Given the description of an element on the screen output the (x, y) to click on. 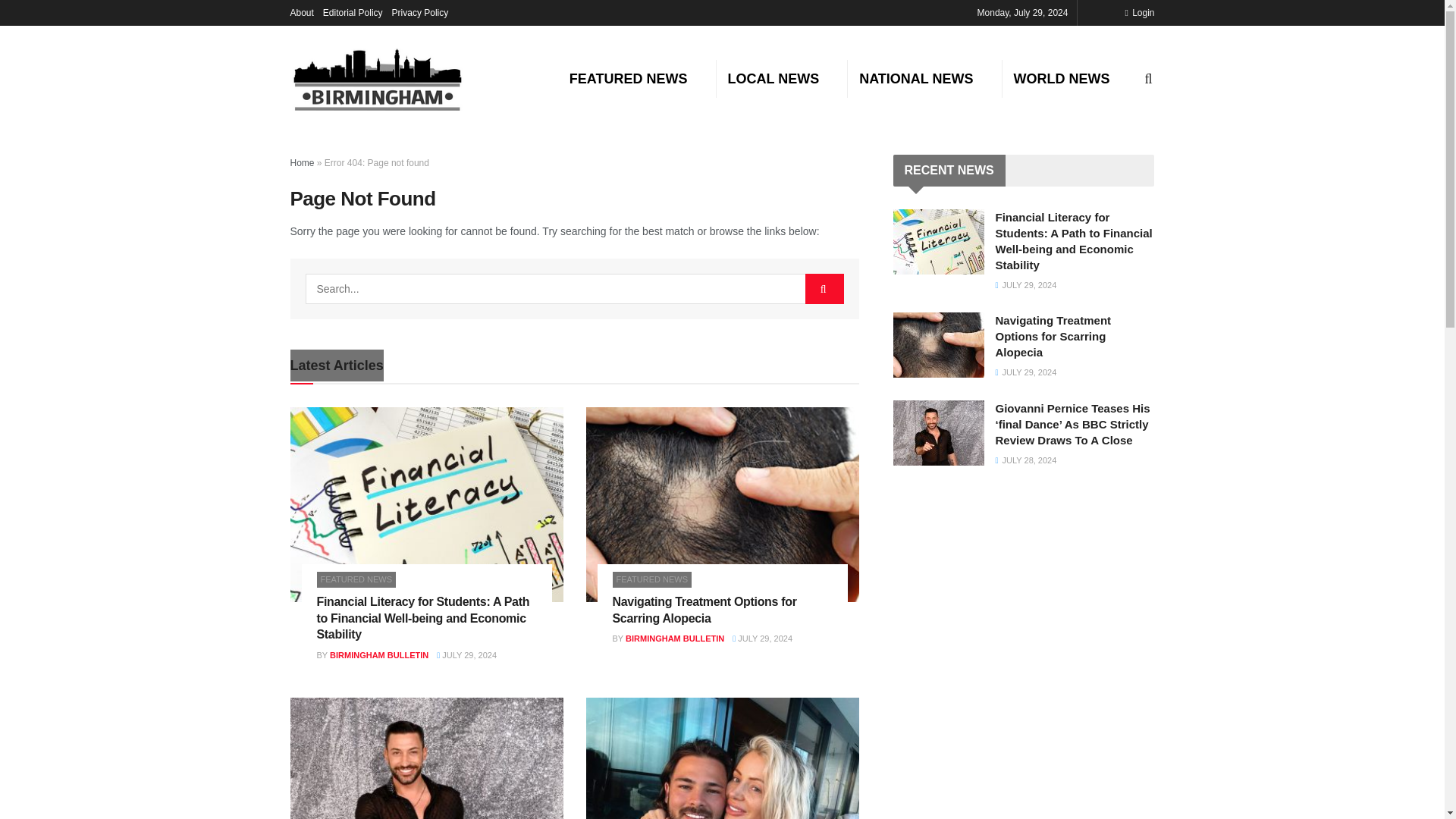
JULY 29, 2024 (466, 655)
JULY 29, 2024 (762, 637)
Privacy Policy (419, 12)
WORLD NEWS (1062, 78)
Navigating Treatment Options for Scarring Alopecia (704, 609)
BIRMINGHAM BULLETIN (674, 637)
Login (1139, 12)
BIRMINGHAM BULLETIN (379, 655)
Home (301, 163)
Editorial Policy (352, 12)
LOCAL NEWS (773, 78)
FEATURED NEWS (356, 579)
NATIONAL NEWS (915, 78)
FEATURED NEWS (652, 579)
